Given the description of an element on the screen output the (x, y) to click on. 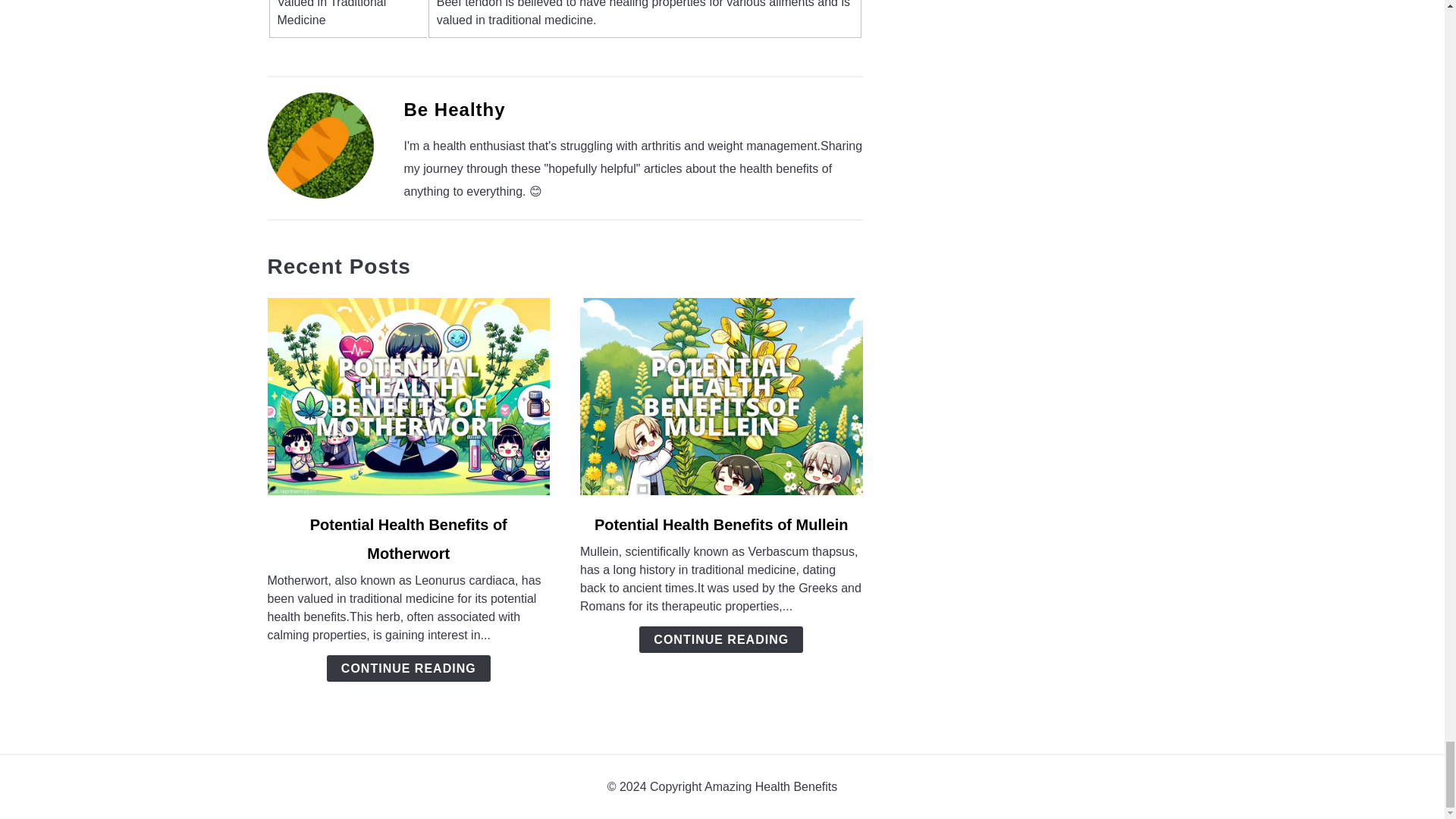
CONTINUE READING (408, 668)
link to Potential Health Benefits of Motherwort (408, 396)
Potential Health Benefits of Motherwort (408, 538)
Be Healthy (454, 109)
